Given the description of an element on the screen output the (x, y) to click on. 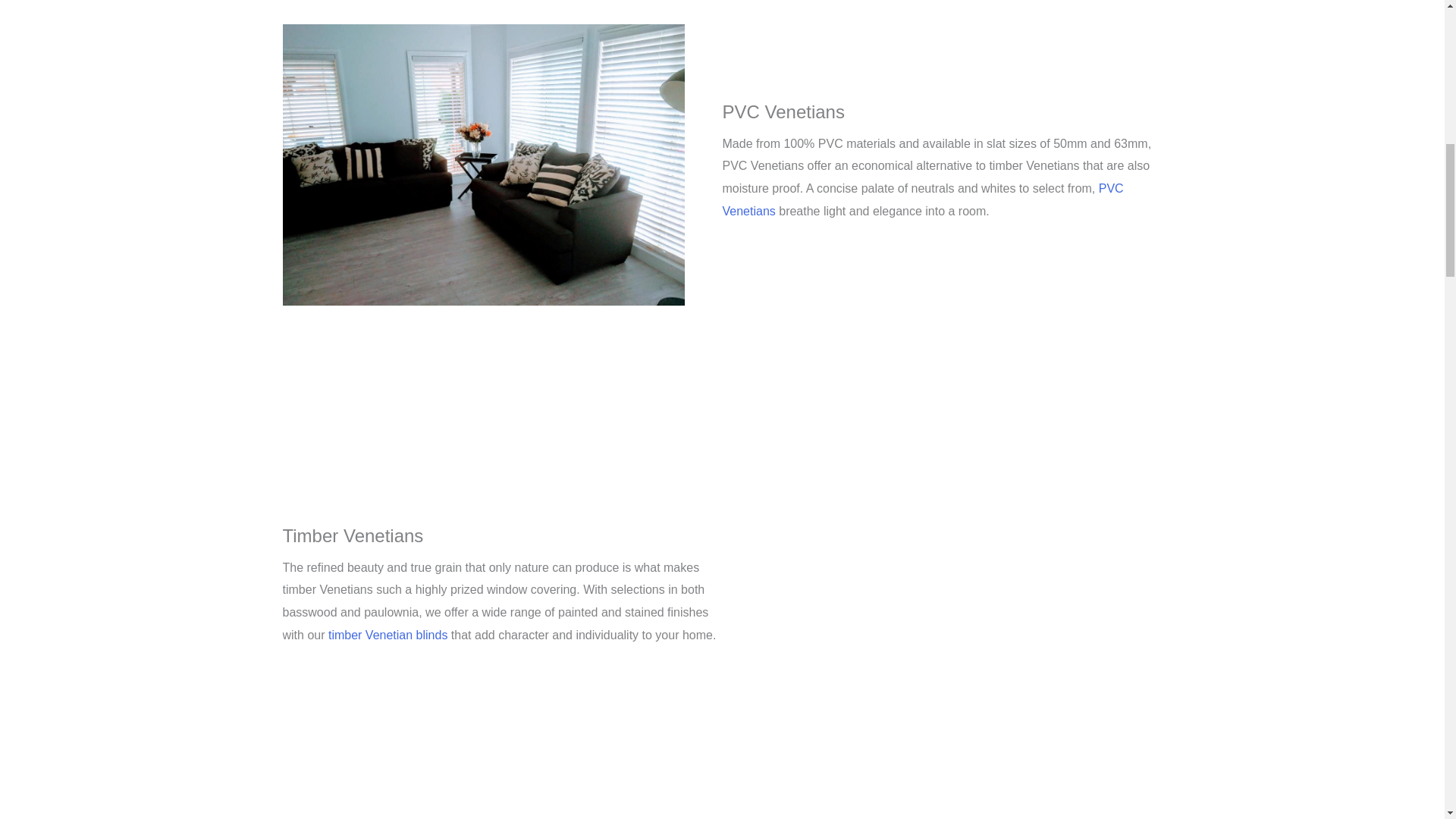
PVC Venetian 2 (483, 164)
